Given the description of an element on the screen output the (x, y) to click on. 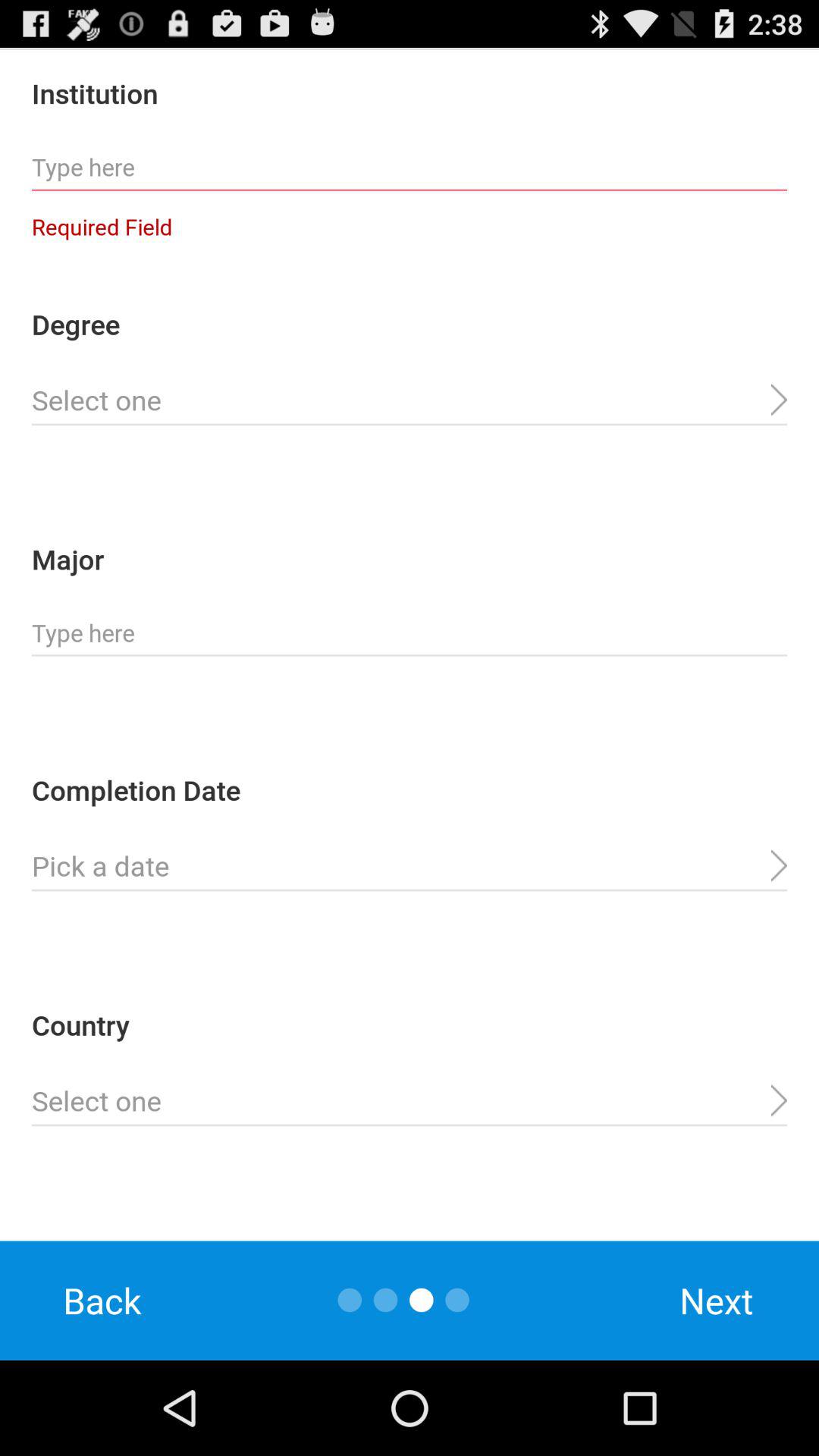
select degree (409, 400)
